Given the description of an element on the screen output the (x, y) to click on. 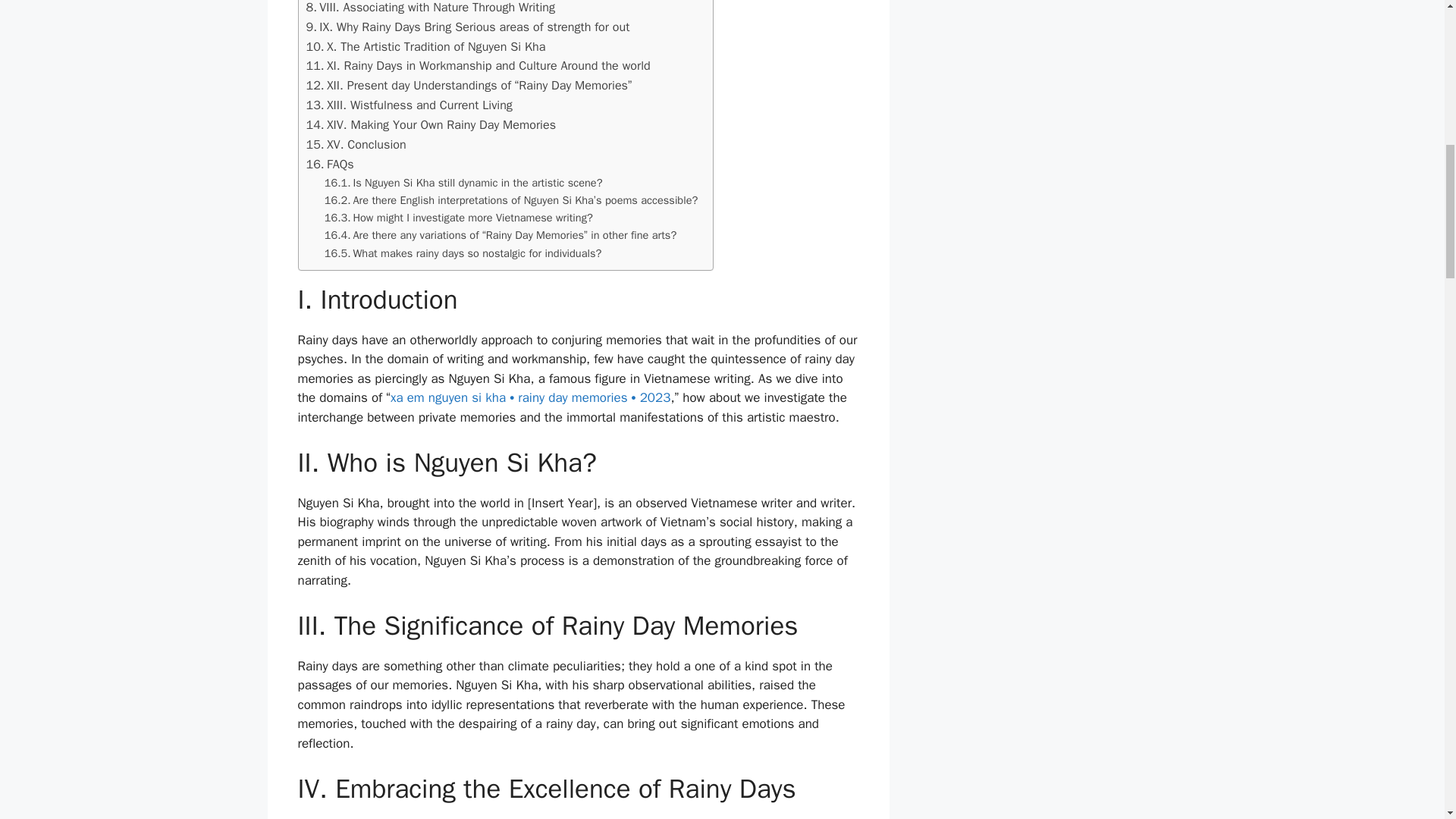
What makes rainy days so nostalgic for individuals? (463, 252)
FAQs (329, 164)
XI. Rainy Days in Workmanship and Culture Around the world (477, 66)
X. The Artistic Tradition of Nguyen Si Kha (425, 46)
XIV. Making Your Own Rainy Day Memories (430, 125)
Is Nguyen Si Kha still dynamic in the artistic scene? (463, 182)
VIII. Associating with Nature Through Writing (430, 8)
IX. Why Rainy Days Bring Serious areas of strength for out (467, 26)
XV. Conclusion (355, 144)
XIII. Wistfulness and Current Living (408, 105)
